Given the description of an element on the screen output the (x, y) to click on. 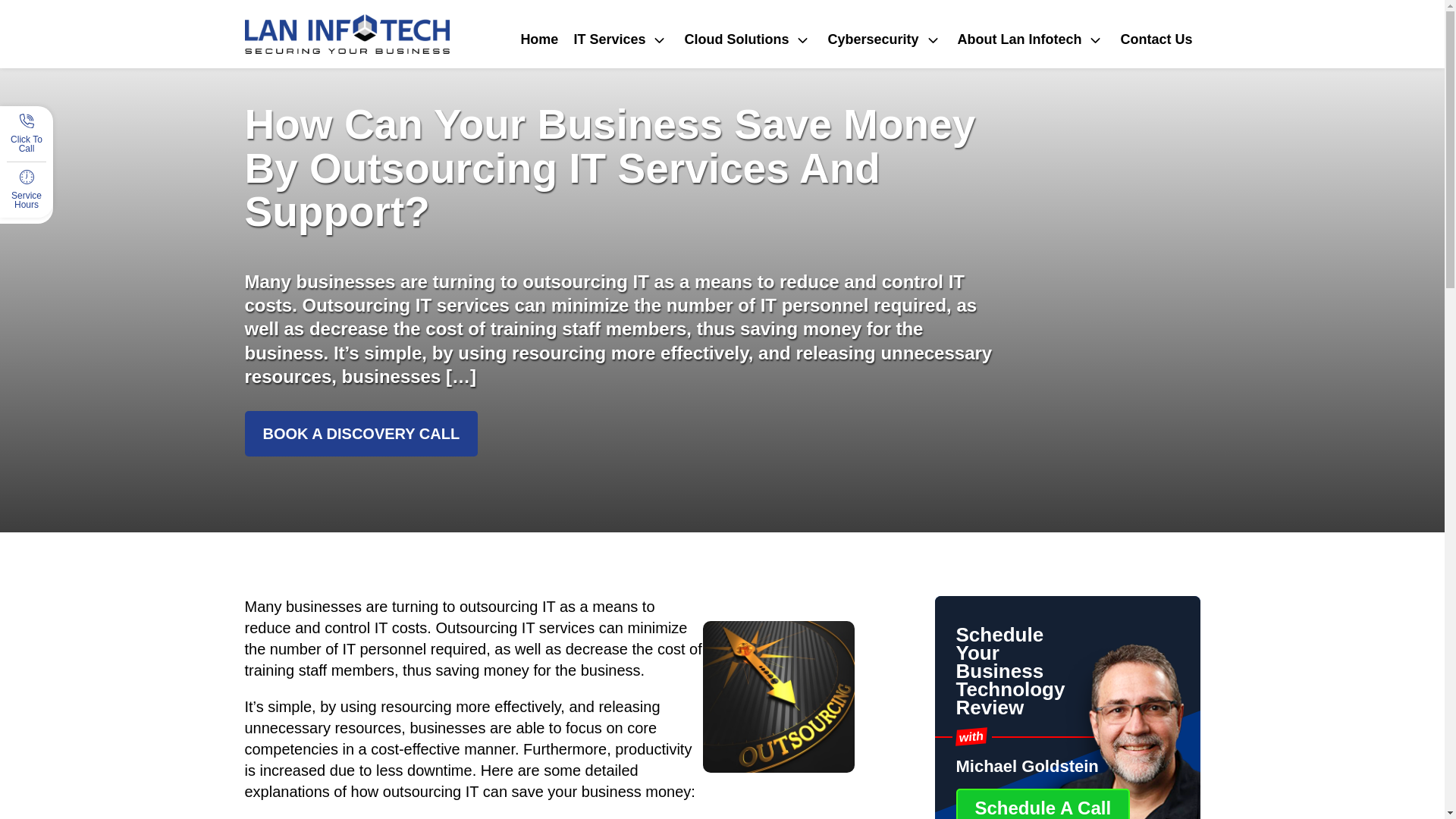
Home (539, 39)
About Lan Infotech (1030, 39)
Click To Call (26, 147)
IT Services (621, 39)
Cybersecurity (884, 39)
Cloud Solutions (748, 39)
